Given the description of an element on the screen output the (x, y) to click on. 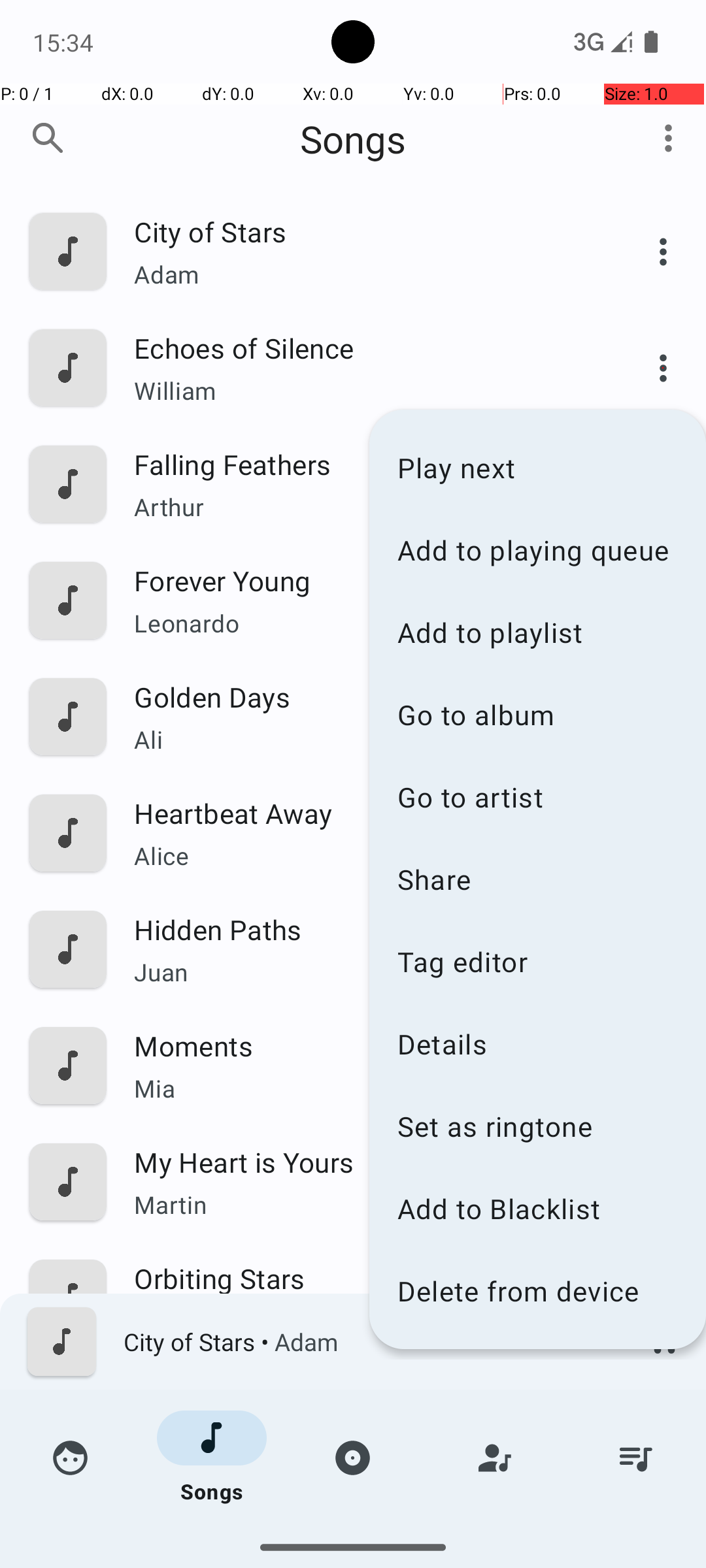
Play next Element type: android.widget.TextView (537, 467)
Add to playing queue Element type: android.widget.TextView (537, 549)
Add to playlist Element type: android.widget.TextView (537, 631)
Go to album Element type: android.widget.TextView (537, 714)
Go to artist Element type: android.widget.TextView (537, 796)
Tag editor Element type: android.widget.TextView (537, 961)
Details Element type: android.widget.TextView (537, 1043)
Set as ringtone Element type: android.widget.TextView (537, 1125)
Add to Blacklist Element type: android.widget.TextView (537, 1207)
Delete from device Element type: android.widget.TextView (537, 1290)
